Given the description of an element on the screen output the (x, y) to click on. 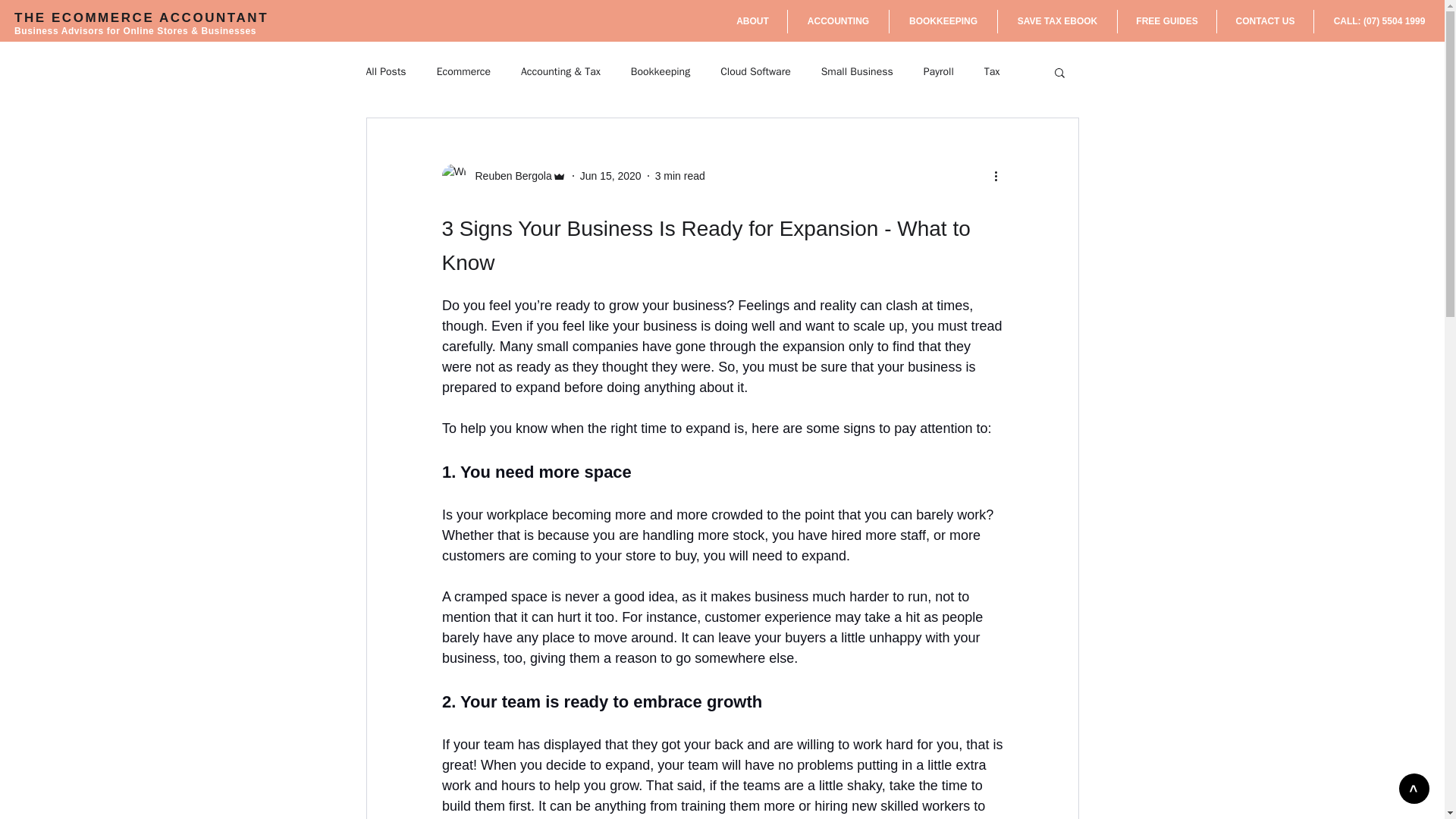
All Posts (385, 71)
FREE GUIDES (1166, 21)
Tax (992, 71)
ABOUT (752, 21)
ACCOUNTING (837, 21)
Reuben Bergola (503, 175)
3 min read (679, 175)
Cloud Software (755, 71)
Ecommerce (463, 71)
SAVE TAX EBOOK (1056, 21)
